Given the description of an element on the screen output the (x, y) to click on. 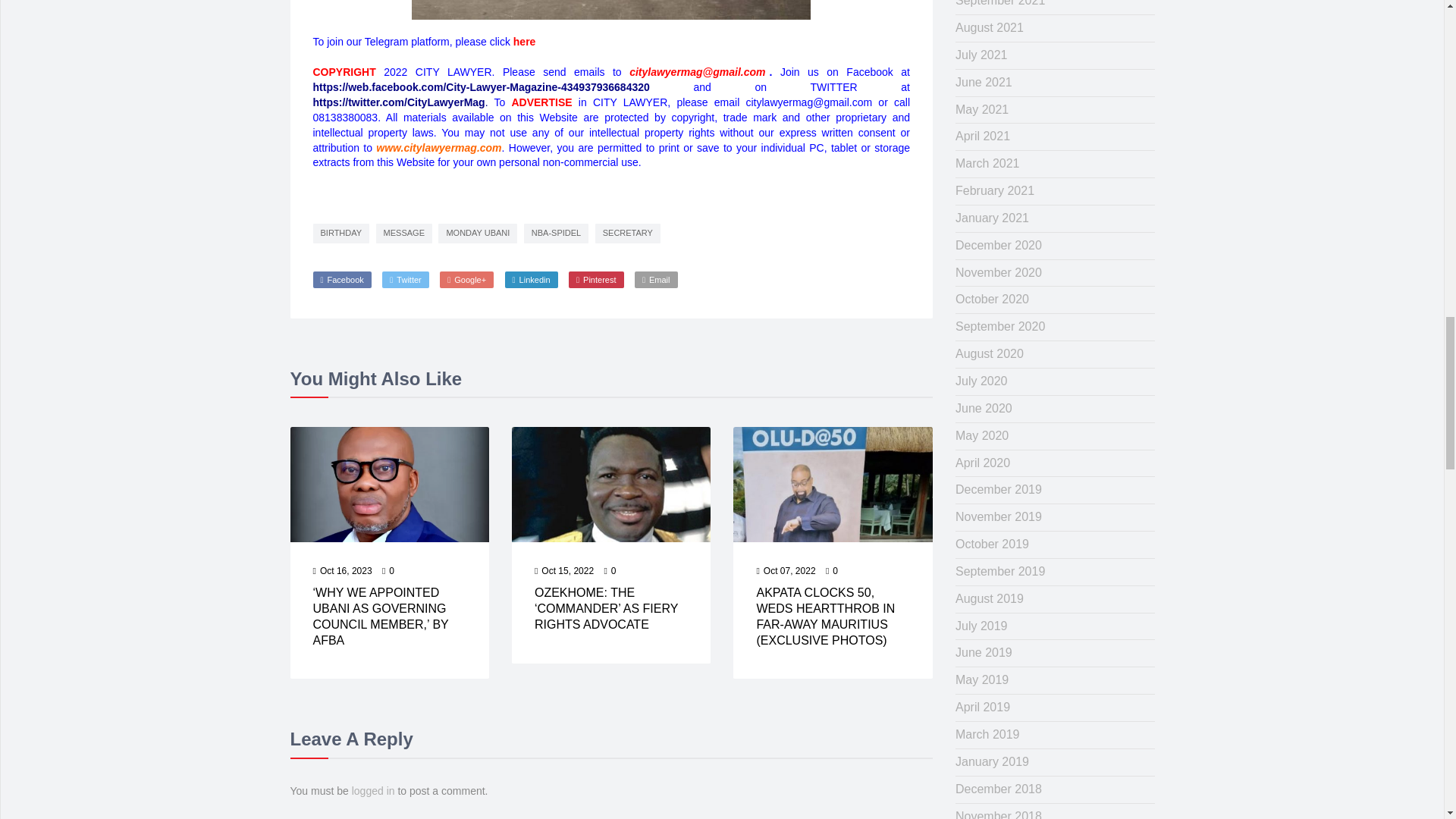
Twitter (404, 279)
SECRETARY (628, 233)
MESSAGE (403, 233)
Linkedin (531, 279)
www.citylawyermag.com (437, 146)
BIRTHDAY (341, 233)
NBA-SPIDEL (556, 233)
Facebook (342, 279)
Like (387, 571)
here (524, 41)
MONDAY UBANI (477, 233)
